Given the description of an element on the screen output the (x, y) to click on. 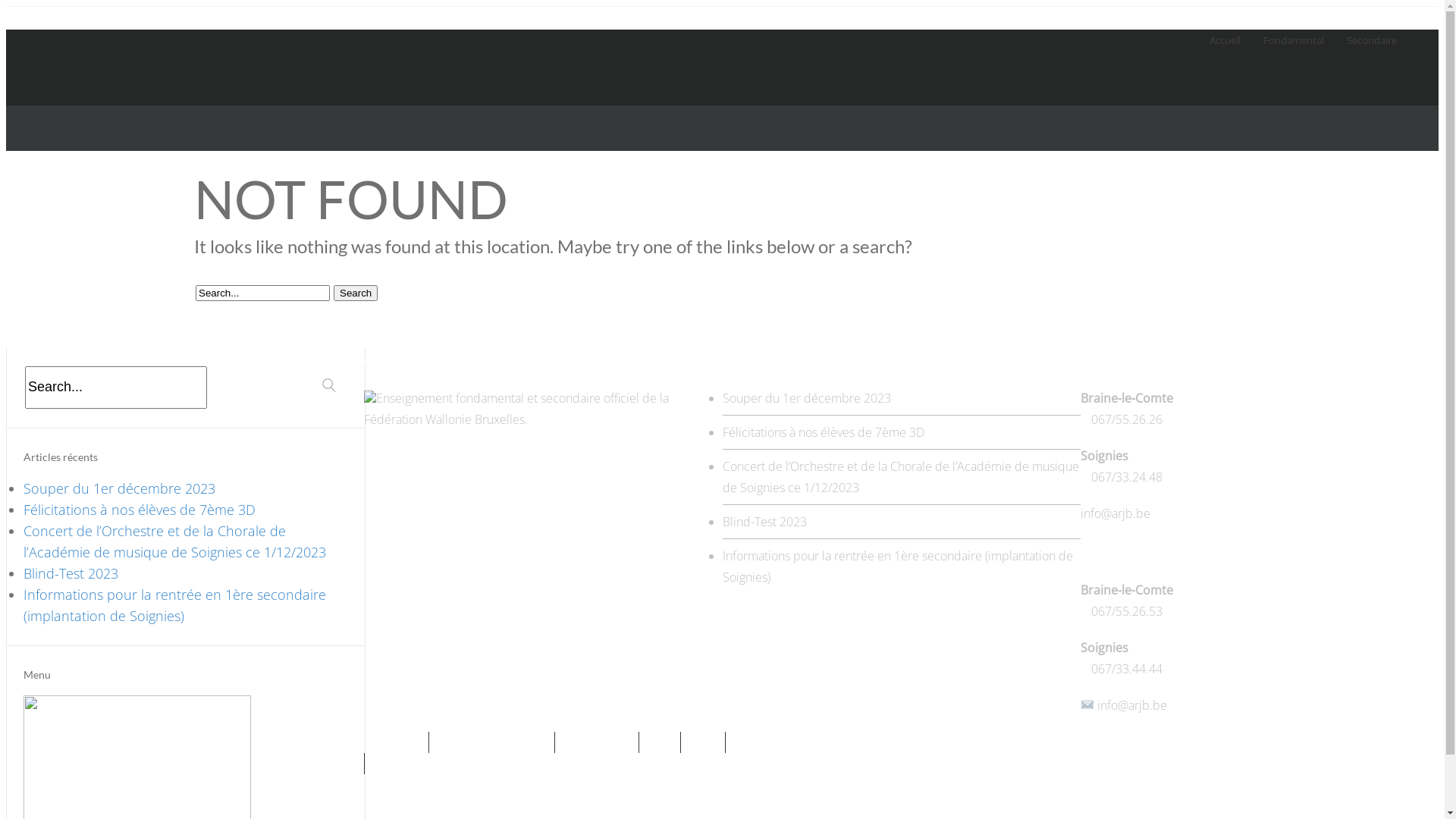
info@arjb.be Element type: text (1132, 704)
Fondamental Element type: text (1293, 29)
Histoire Element type: text (659, 741)
067/33.24.48 Element type: text (1126, 476)
Documents professeurs Element type: text (491, 741)
Accueil Element type: text (1224, 29)
Candidature Element type: text (395, 741)
Google Classroom Element type: text (46, 17)
067/55.26.53 Element type: text (1126, 610)
Secondaire Element type: text (1371, 29)
info@arjb.be Element type: text (1115, 513)
Search Element type: text (355, 293)
Nos partenaires Element type: text (596, 741)
Archives Element type: text (702, 741)
067/33.44.44 Element type: text (1126, 668)
- Ecole en Ligne Element type: text (125, 17)
Blind-Test 2023 Element type: text (70, 573)
Blind-Test 2023 Element type: text (763, 521)
Search Element type: text (329, 385)
067/55.26.26 Element type: text (1126, 419)
